Given the description of an element on the screen output the (x, y) to click on. 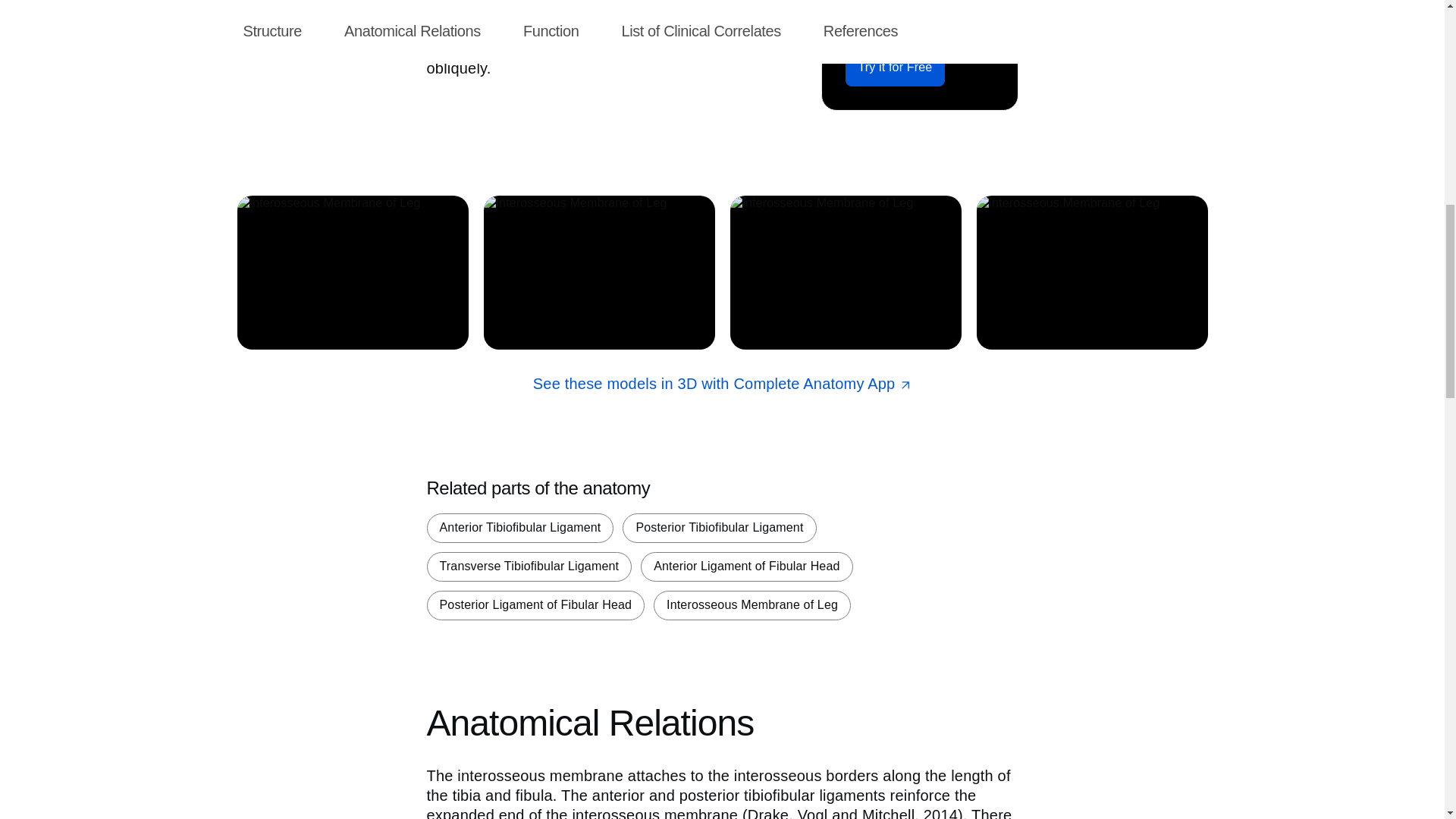
Try it for Free (894, 67)
Anterior Tibiofibular Ligament (519, 527)
Posterior Tibiofibular Ligament (719, 527)
